Given the description of an element on the screen output the (x, y) to click on. 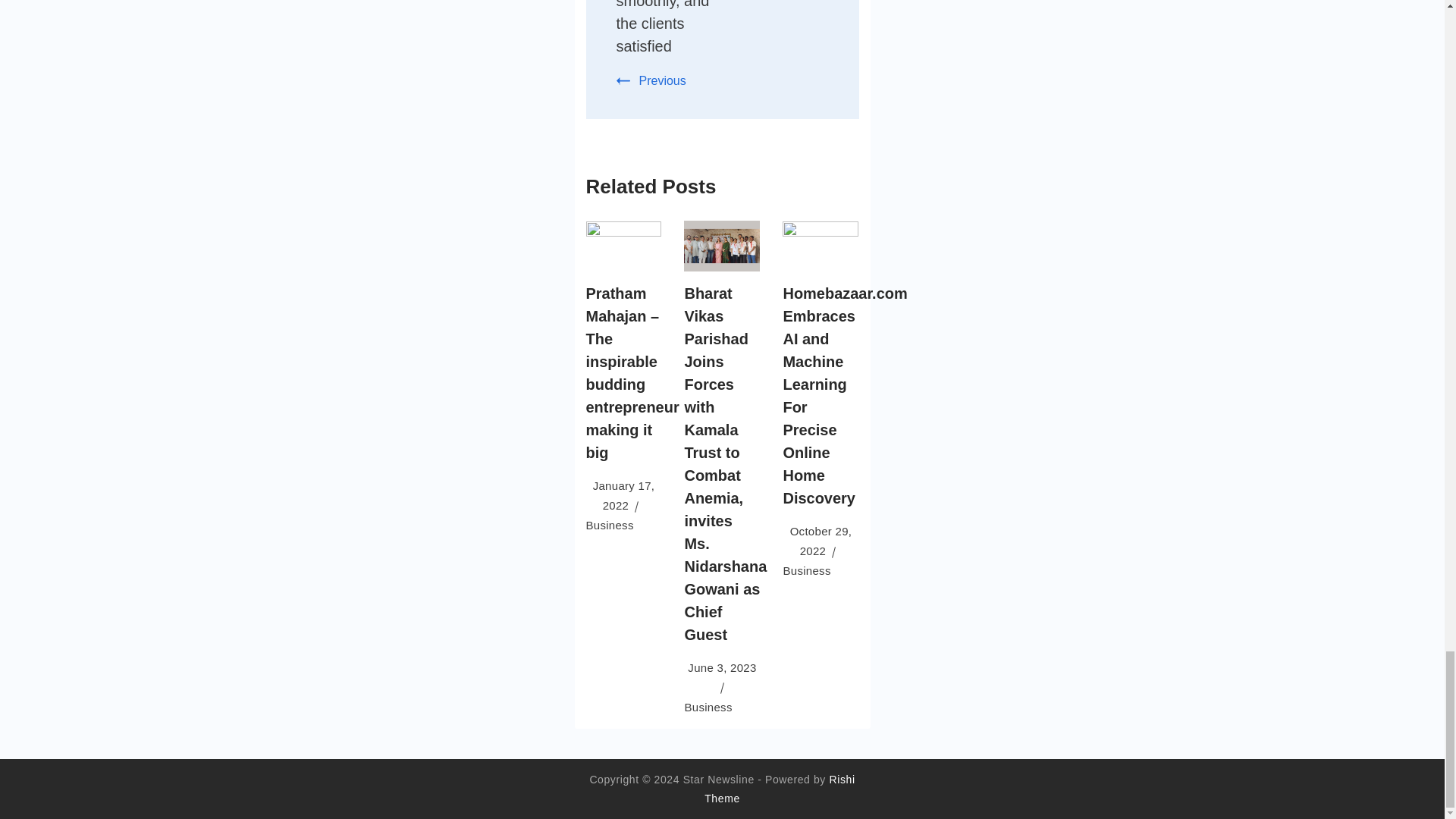
Previous (650, 80)
